Given the description of an element on the screen output the (x, y) to click on. 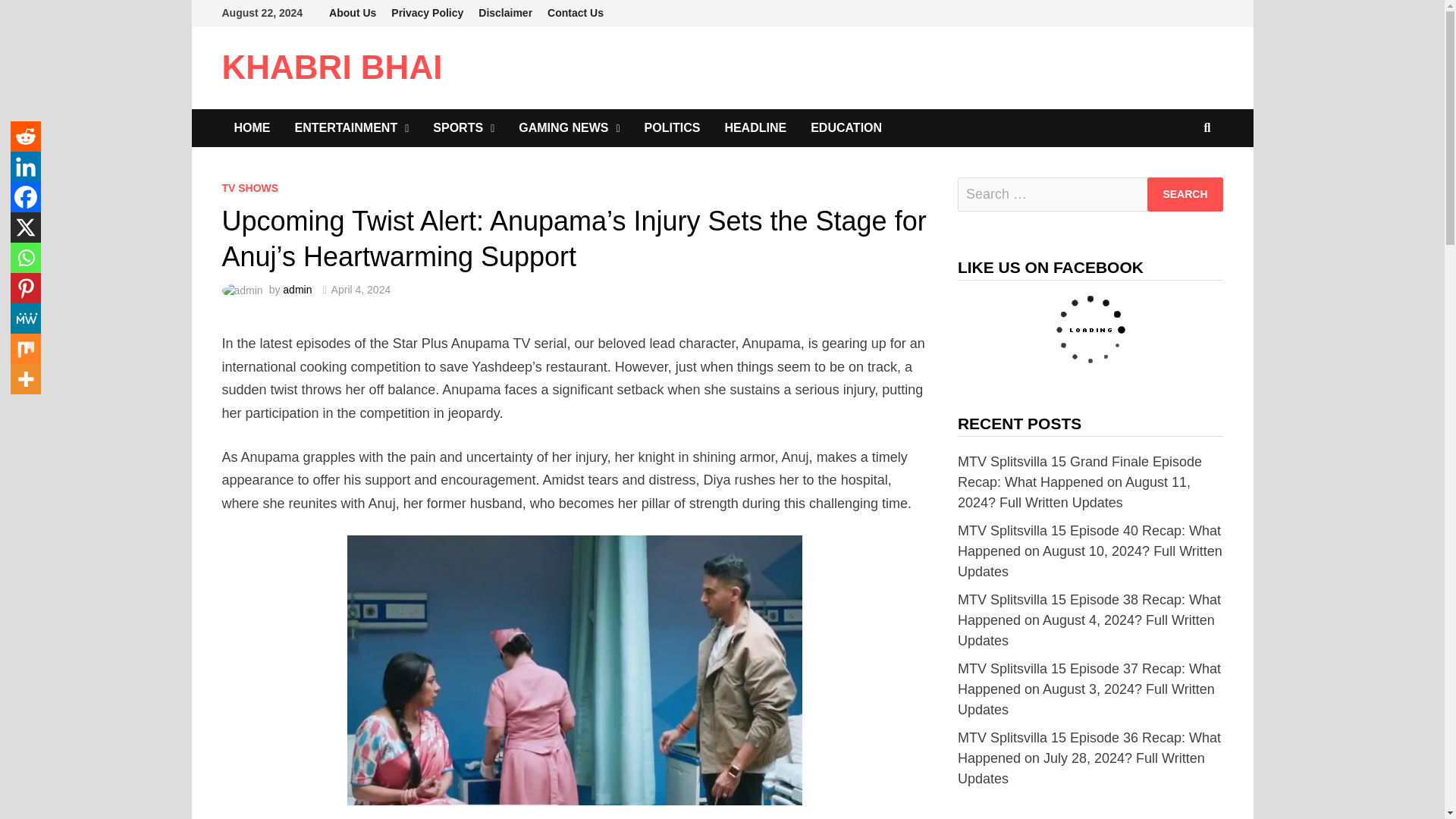
About Us (352, 13)
HOME (251, 127)
Disclaimer (505, 13)
EDUCATION (845, 127)
Privacy Policy (427, 13)
POLITICS (672, 127)
KHABRI BHAI (331, 66)
ENTERTAINMENT (351, 127)
Search (1185, 194)
Reddit (25, 136)
